Given the description of an element on the screen output the (x, y) to click on. 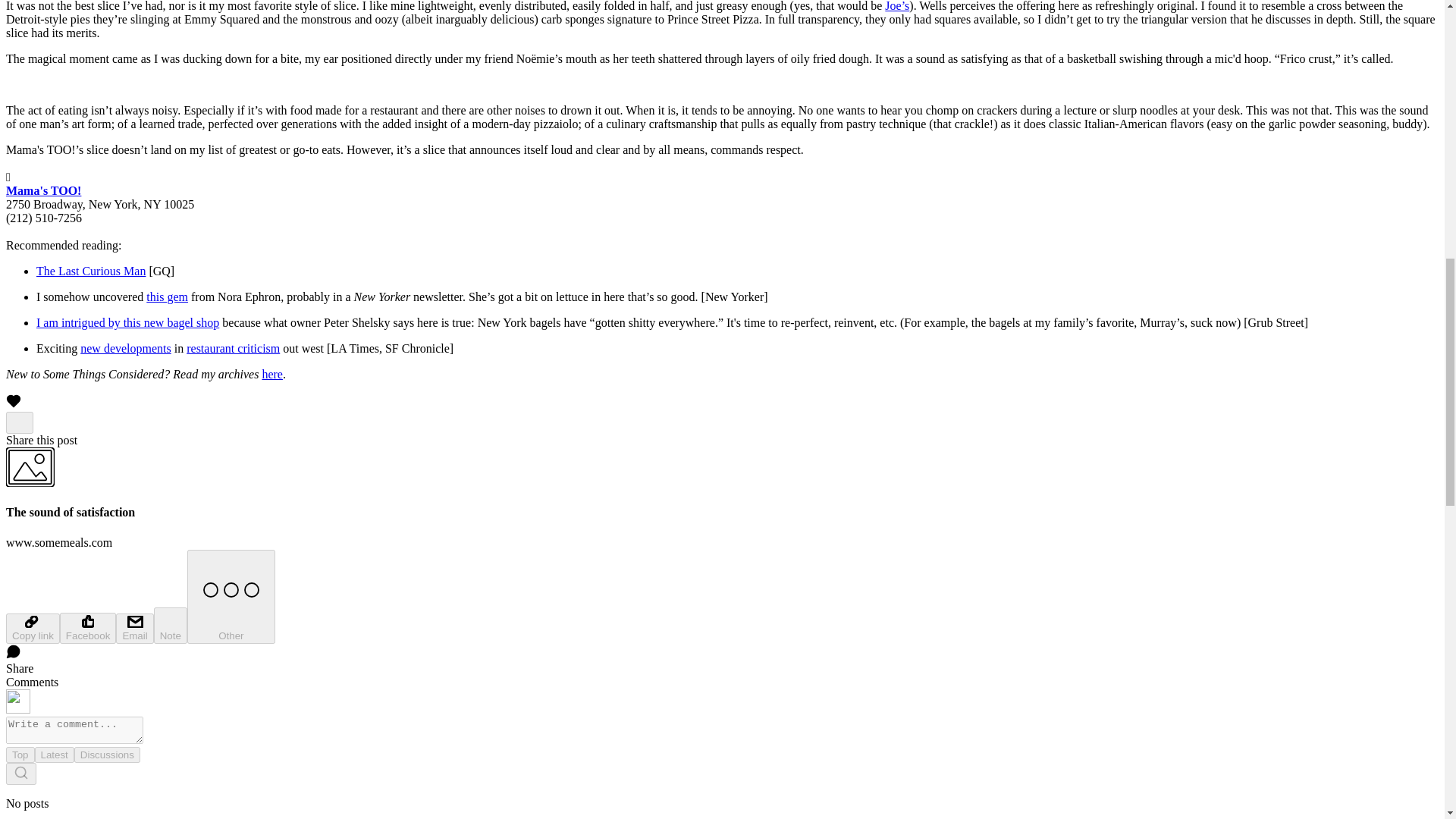
restaurant criticism (232, 348)
here (272, 373)
Other (231, 596)
The Last Curious Man (90, 270)
Email (134, 628)
new developments (125, 348)
Mama's TOO! (43, 190)
Note (170, 625)
Copy link (32, 628)
this gem (167, 296)
I am intrigued by this new bagel shop (127, 322)
Facebook (87, 627)
